Given the description of an element on the screen output the (x, y) to click on. 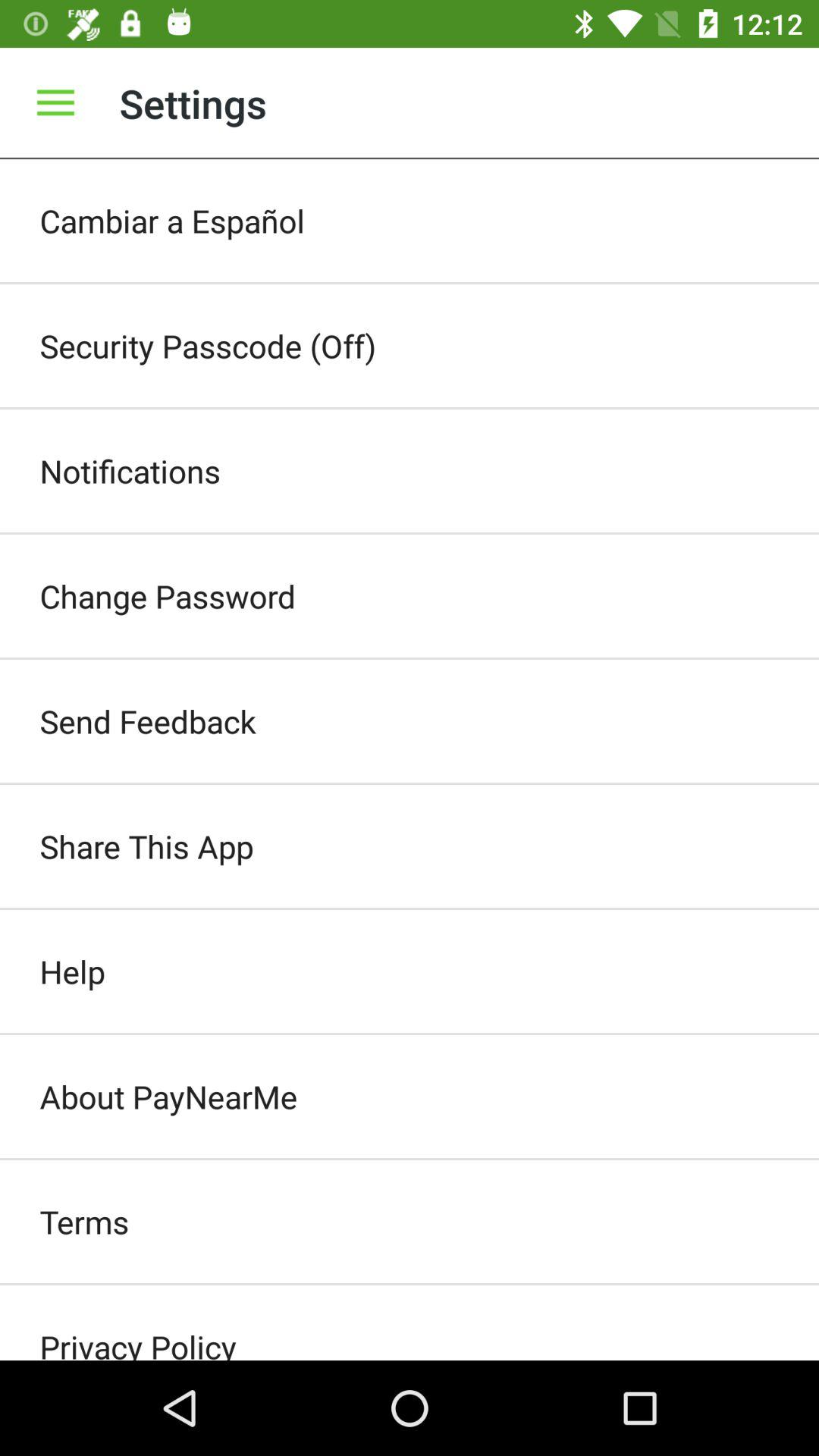
turn off the send feedback item (409, 720)
